Given the description of an element on the screen output the (x, y) to click on. 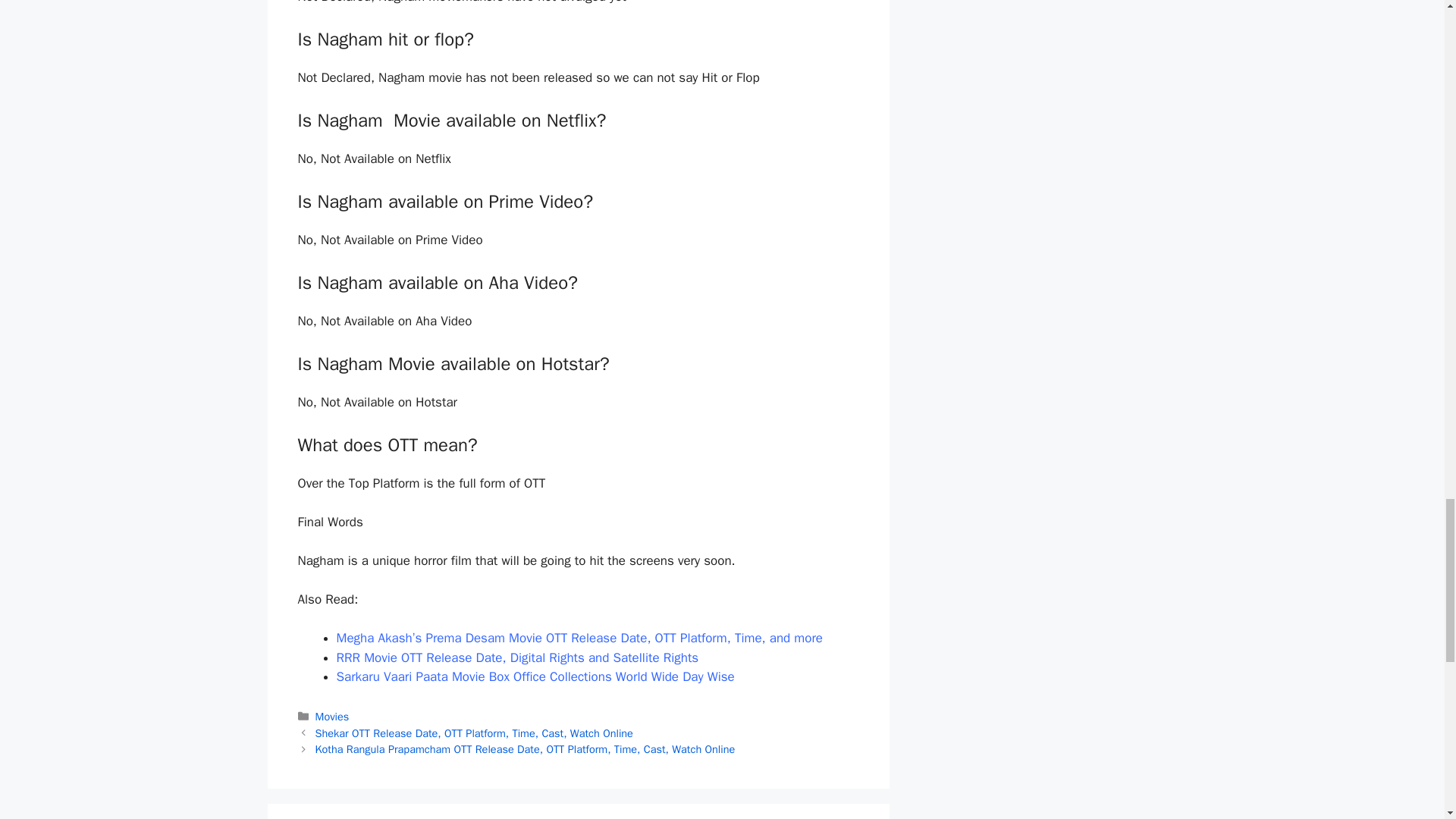
Movies (332, 716)
